Given the description of an element on the screen output the (x, y) to click on. 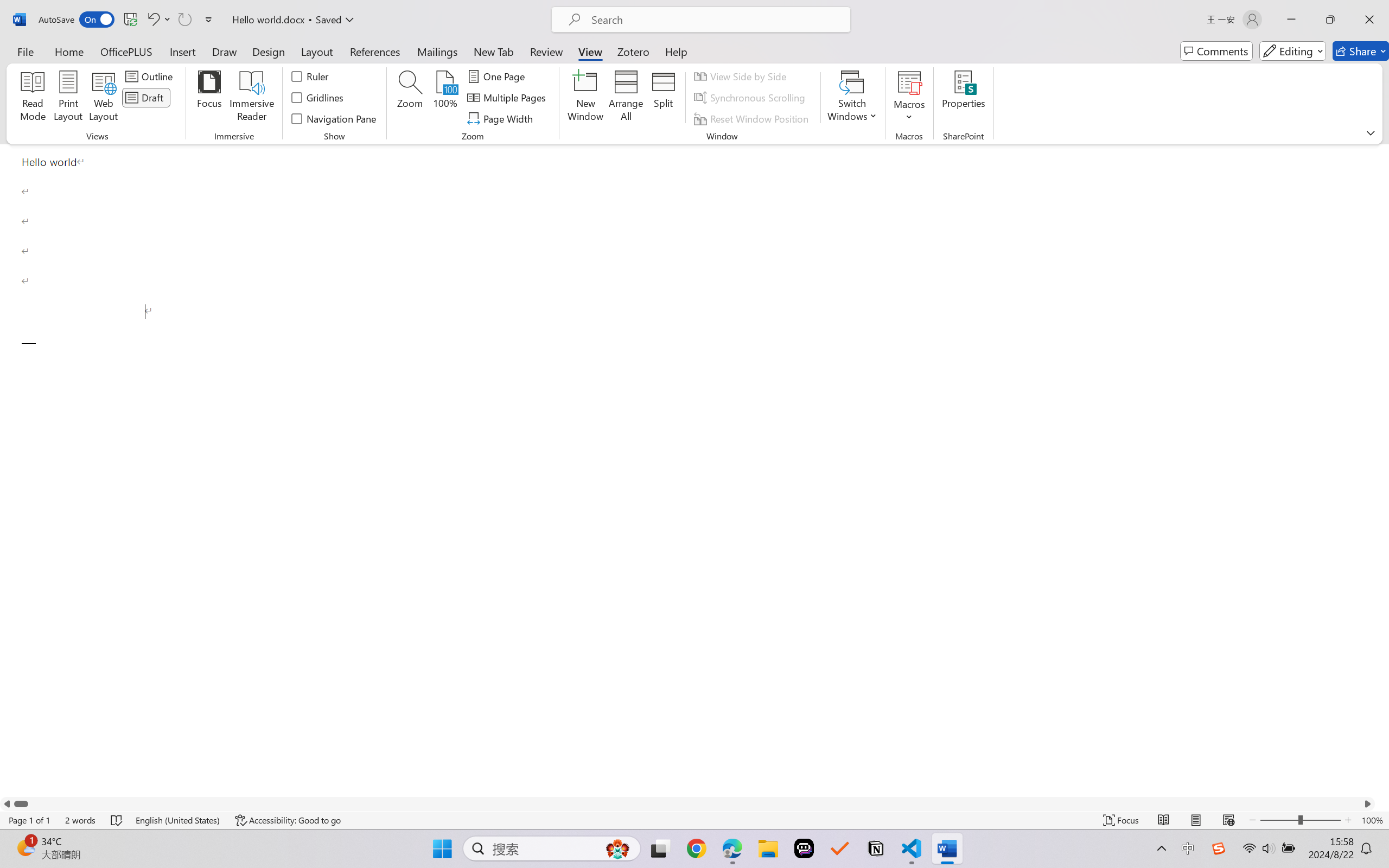
Column left (6, 803)
Can't Repeat (184, 19)
Save (130, 19)
Customize Quick Access Toolbar (208, 19)
Ribbon Display Options (1370, 132)
Share (1360, 51)
Page Width (501, 118)
Ruler (309, 75)
Draft (146, 97)
Draw (224, 51)
Properties (963, 97)
Zoom... (409, 97)
Review (546, 51)
